Given the description of an element on the screen output the (x, y) to click on. 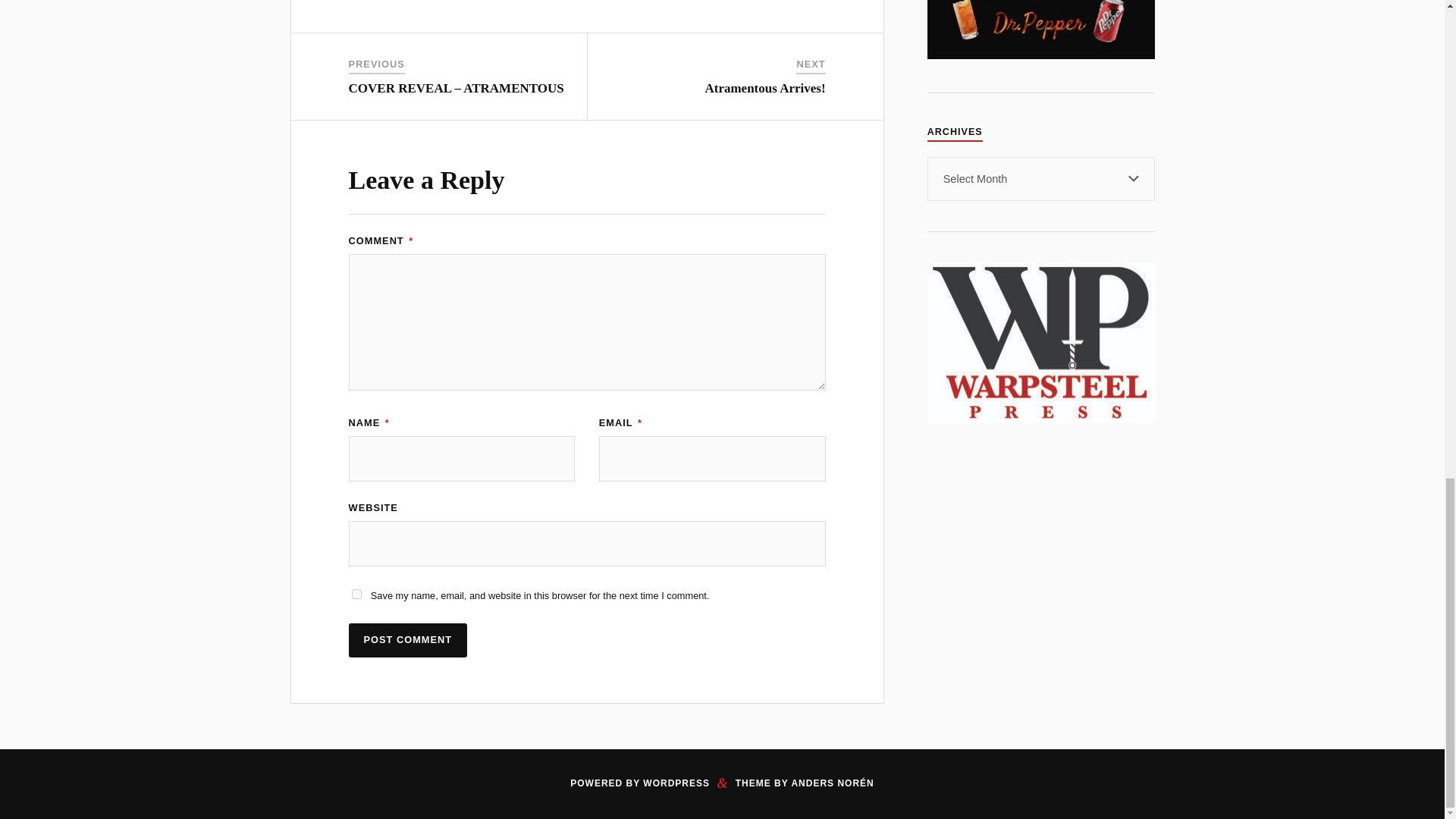
yes (356, 593)
Post Comment (408, 640)
